Given the description of an element on the screen output the (x, y) to click on. 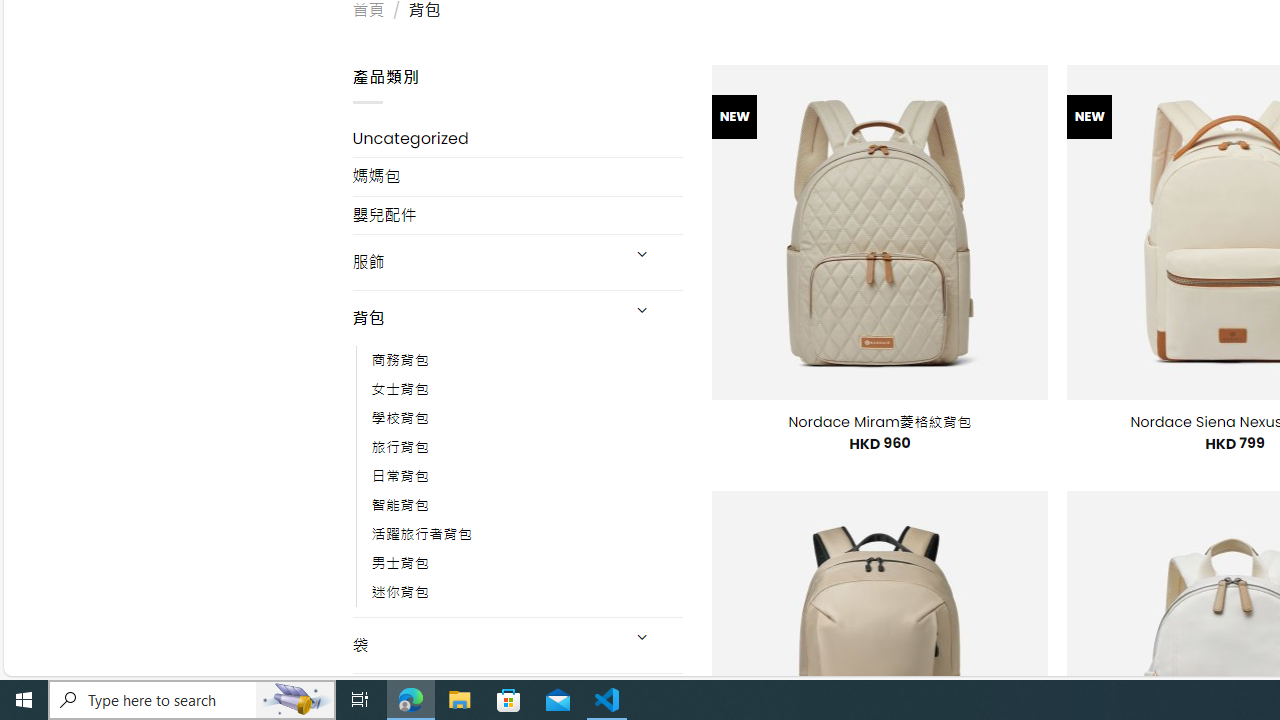
Uncategorized (517, 137)
